Given the description of an element on the screen output the (x, y) to click on. 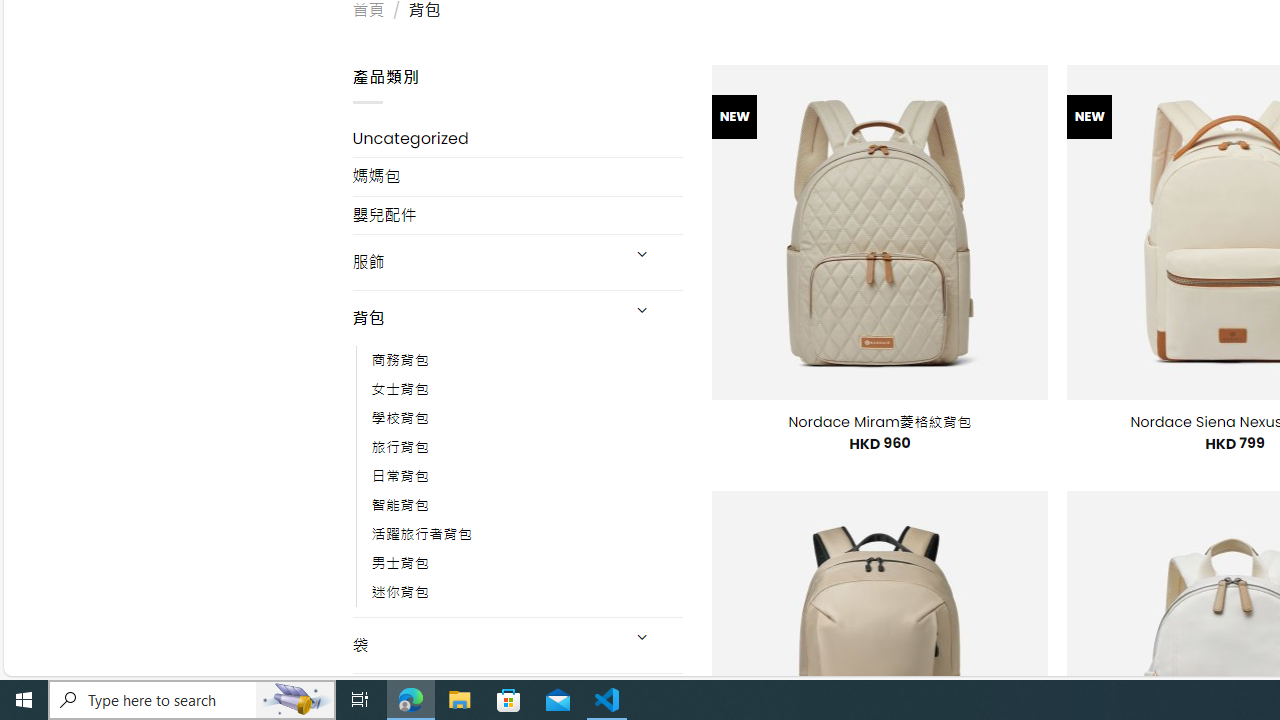
Uncategorized (517, 137)
